Given the description of an element on the screen output the (x, y) to click on. 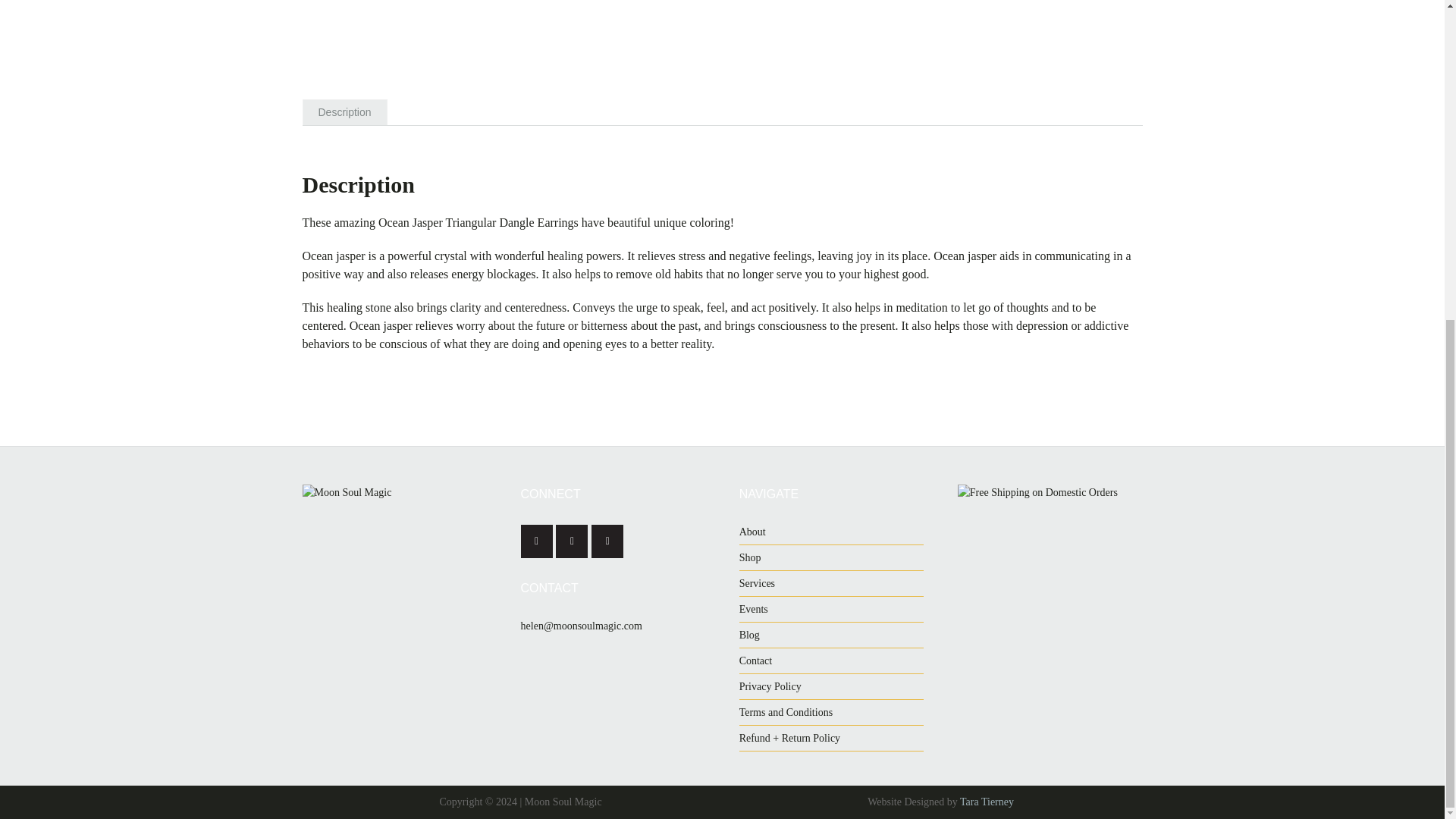
Moon Soul Magic (357, 541)
Free Shipping Button (1050, 576)
About (752, 531)
MOON SOUL MAGIC on Pinterest (607, 540)
Shop (750, 557)
MOON SOUL MAGIC on Instagram (572, 540)
Blog (749, 634)
MOON SOUL MAGIC on Facebook (537, 540)
Privacy Policy (770, 686)
Description (344, 112)
